Given the description of an element on the screen output the (x, y) to click on. 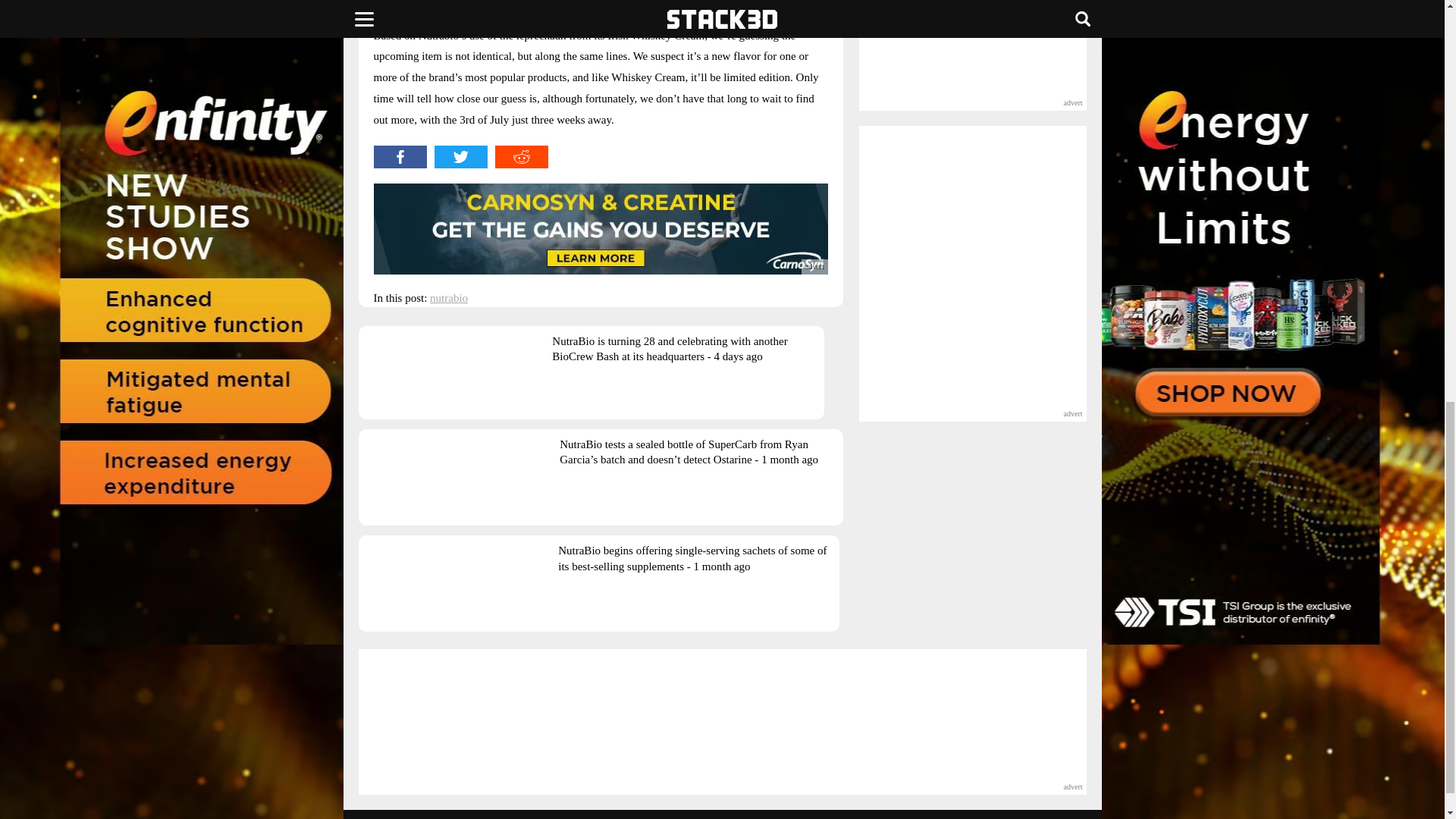
nutrabio (448, 297)
